Given the description of an element on the screen output the (x, y) to click on. 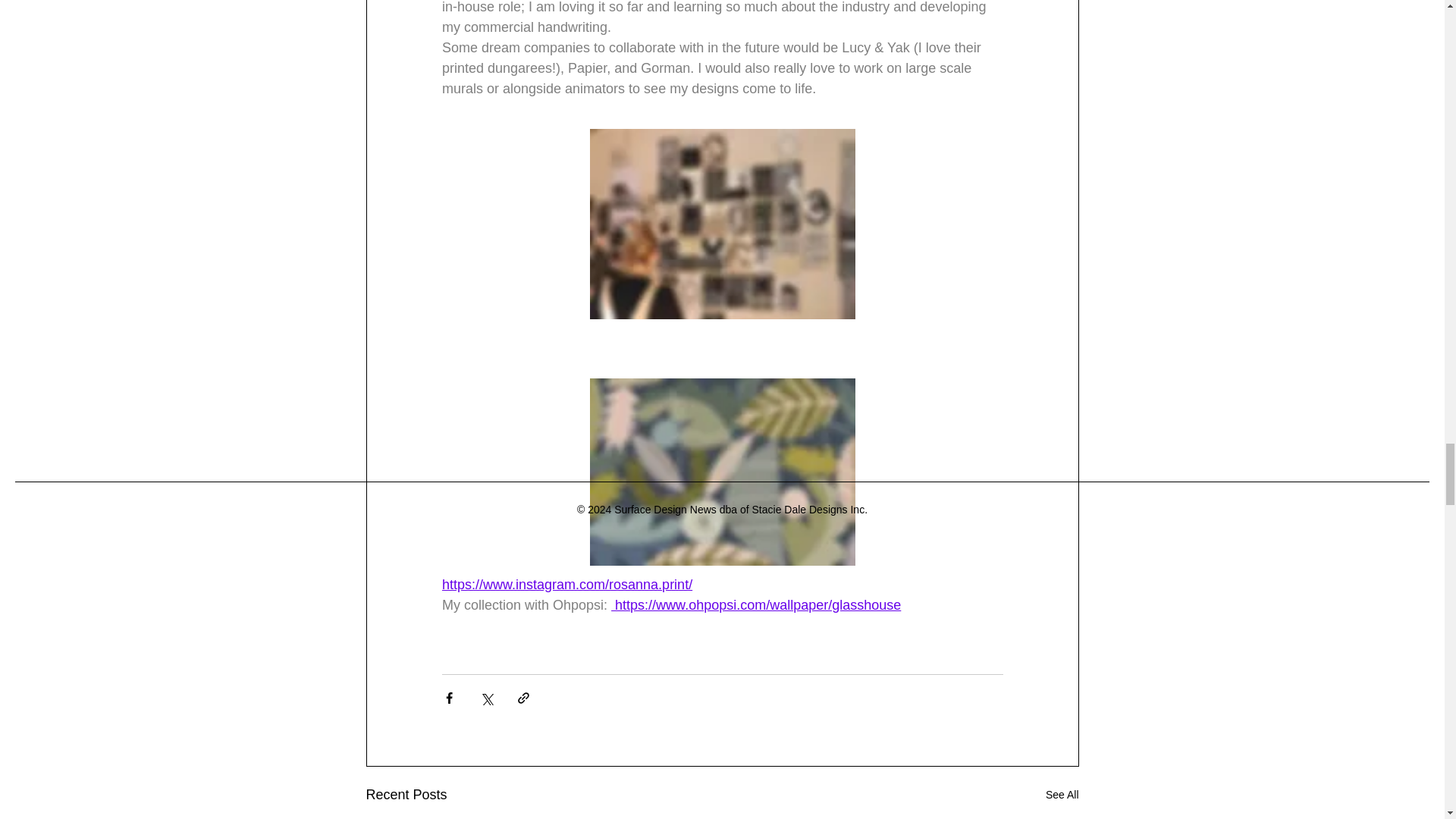
See All (1061, 794)
